Given the description of an element on the screen output the (x, y) to click on. 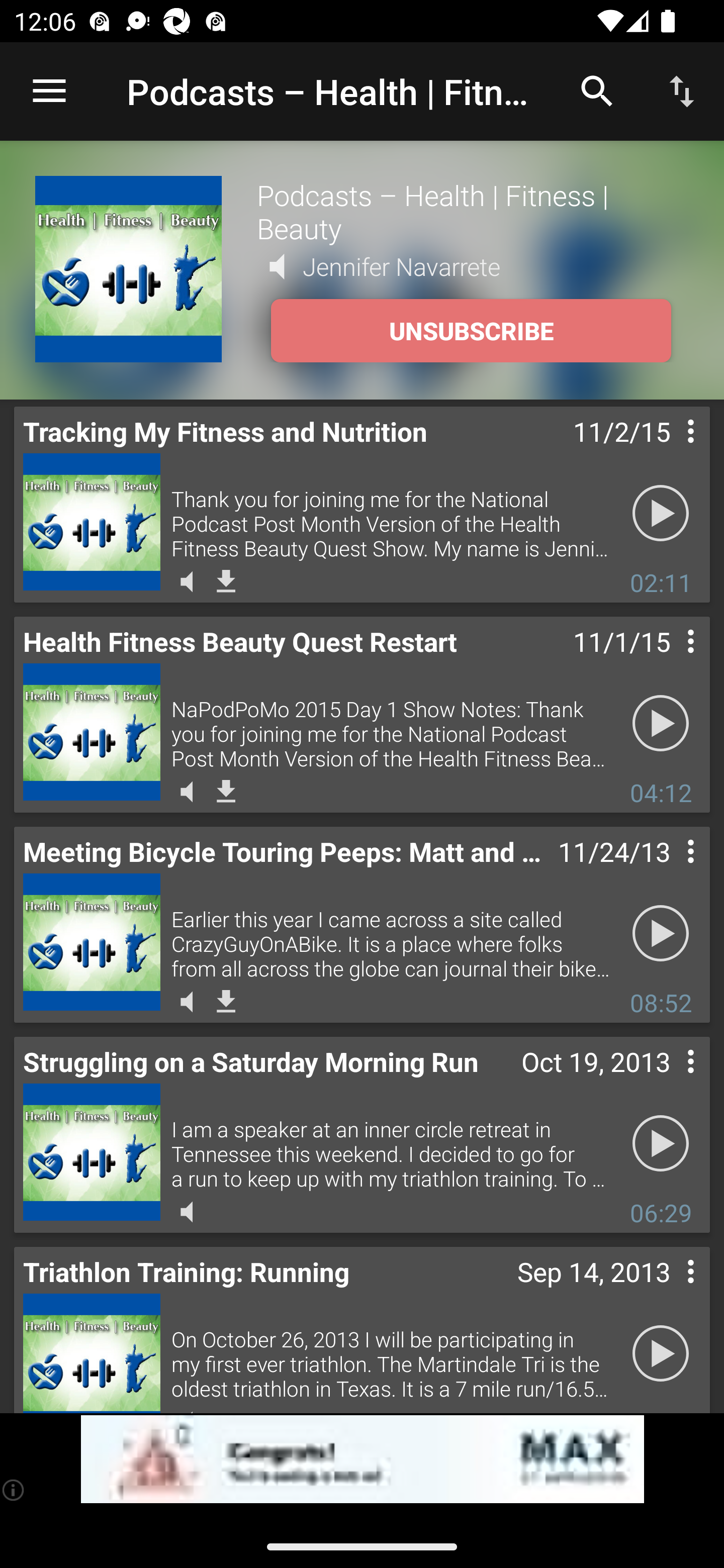
Open navigation sidebar (49, 91)
Search (597, 90)
Sort (681, 90)
UNSUBSCRIBE (470, 330)
Contextual menu (668, 451)
Play (660, 513)
Contextual menu (668, 661)
Play (660, 723)
Contextual menu (668, 870)
Play (660, 933)
Contextual menu (668, 1080)
Play (660, 1143)
Contextual menu (668, 1290)
Play (660, 1353)
app-monetization (362, 1459)
(i) (14, 1489)
